Given the description of an element on the screen output the (x, y) to click on. 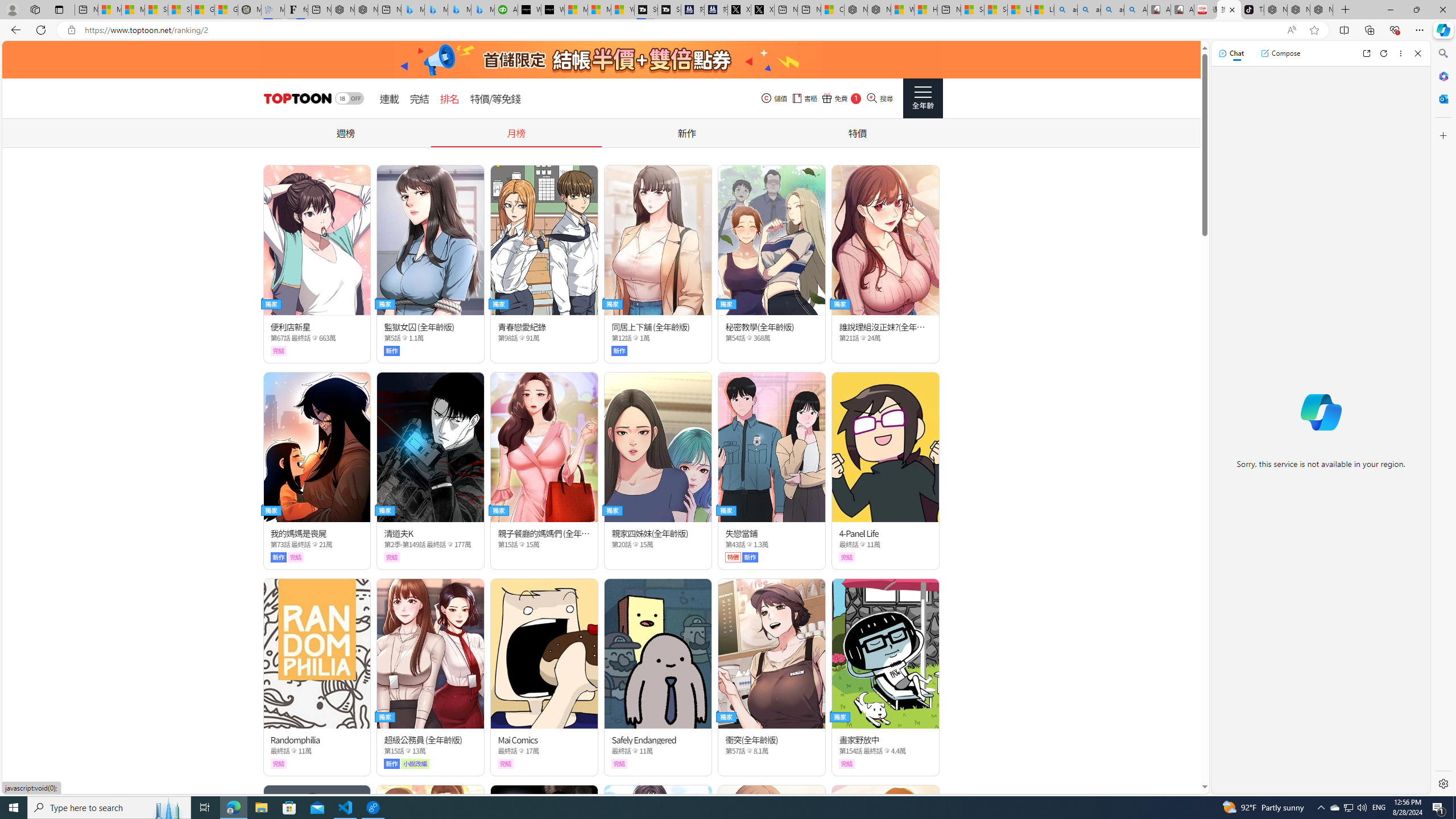
amazon - Search (1089, 9)
amazon - Search Images (1112, 9)
Open link in new tab (1366, 53)
